Given the description of an element on the screen output the (x, y) to click on. 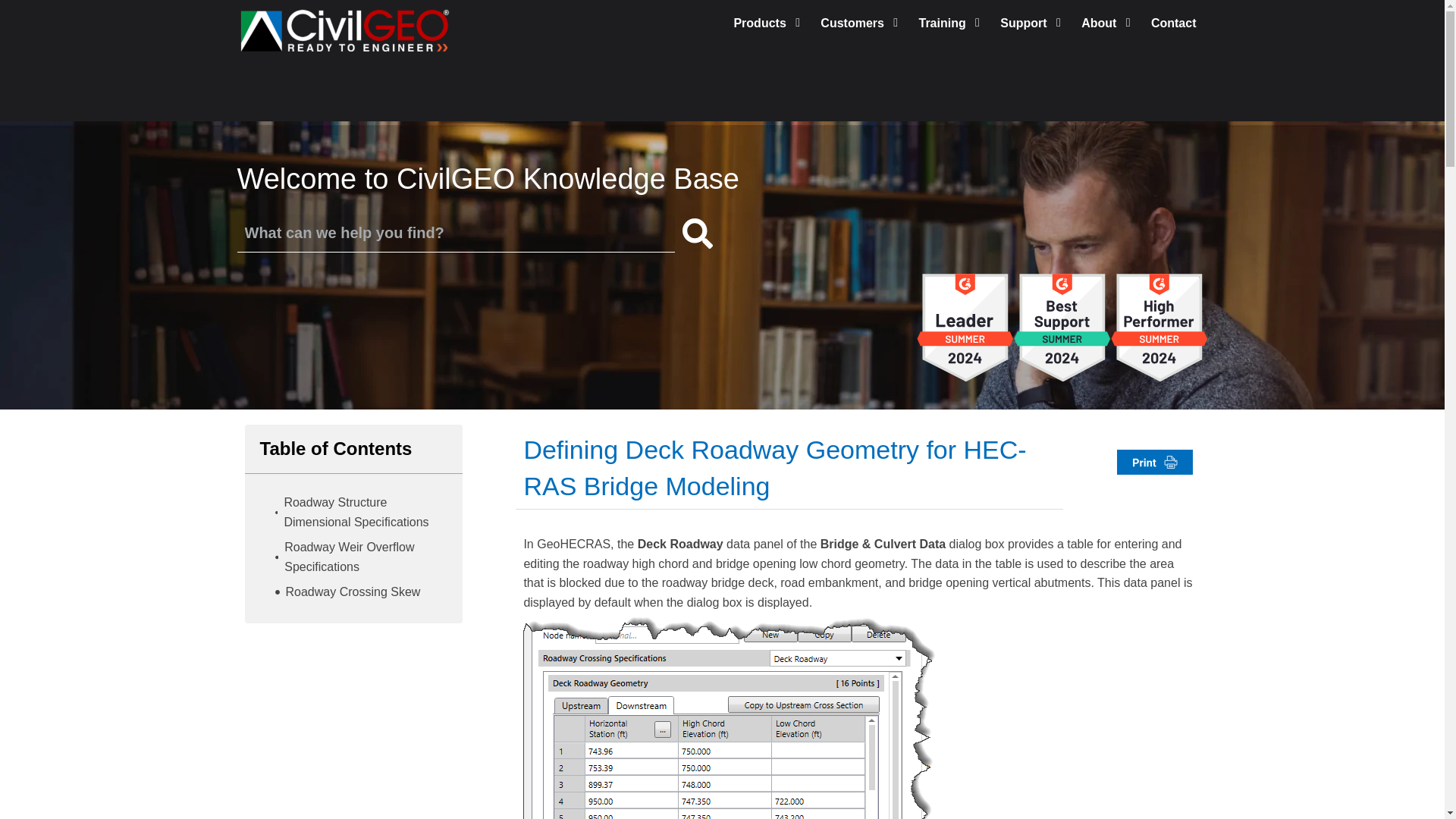
Search (697, 233)
Training (951, 22)
Support (1033, 22)
Search (447, 232)
Products (768, 22)
Click me to print (1154, 468)
Customers (861, 22)
